Given the description of an element on the screen output the (x, y) to click on. 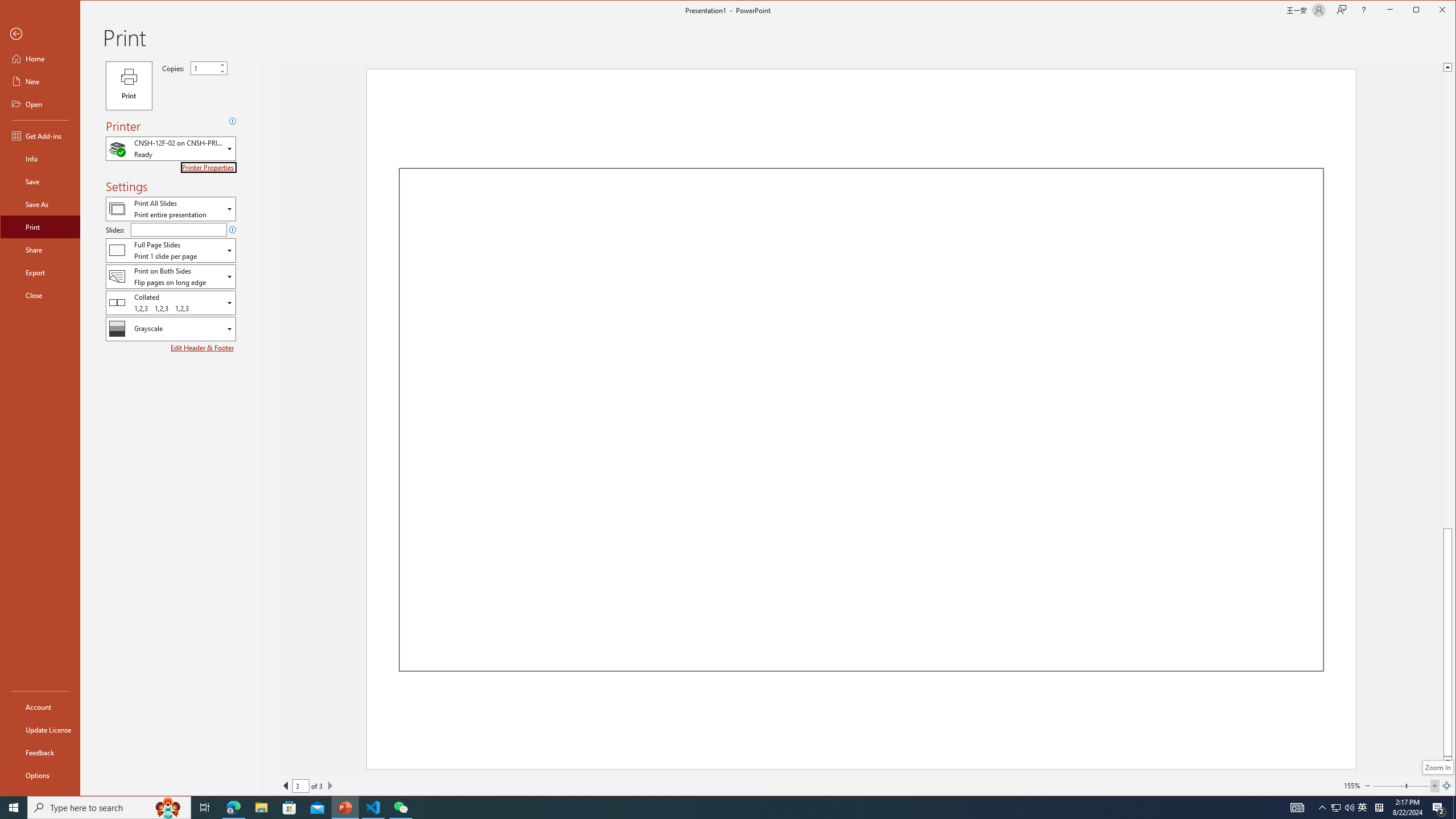
Slides and Handouts (170, 250)
